Given the description of an element on the screen output the (x, y) to click on. 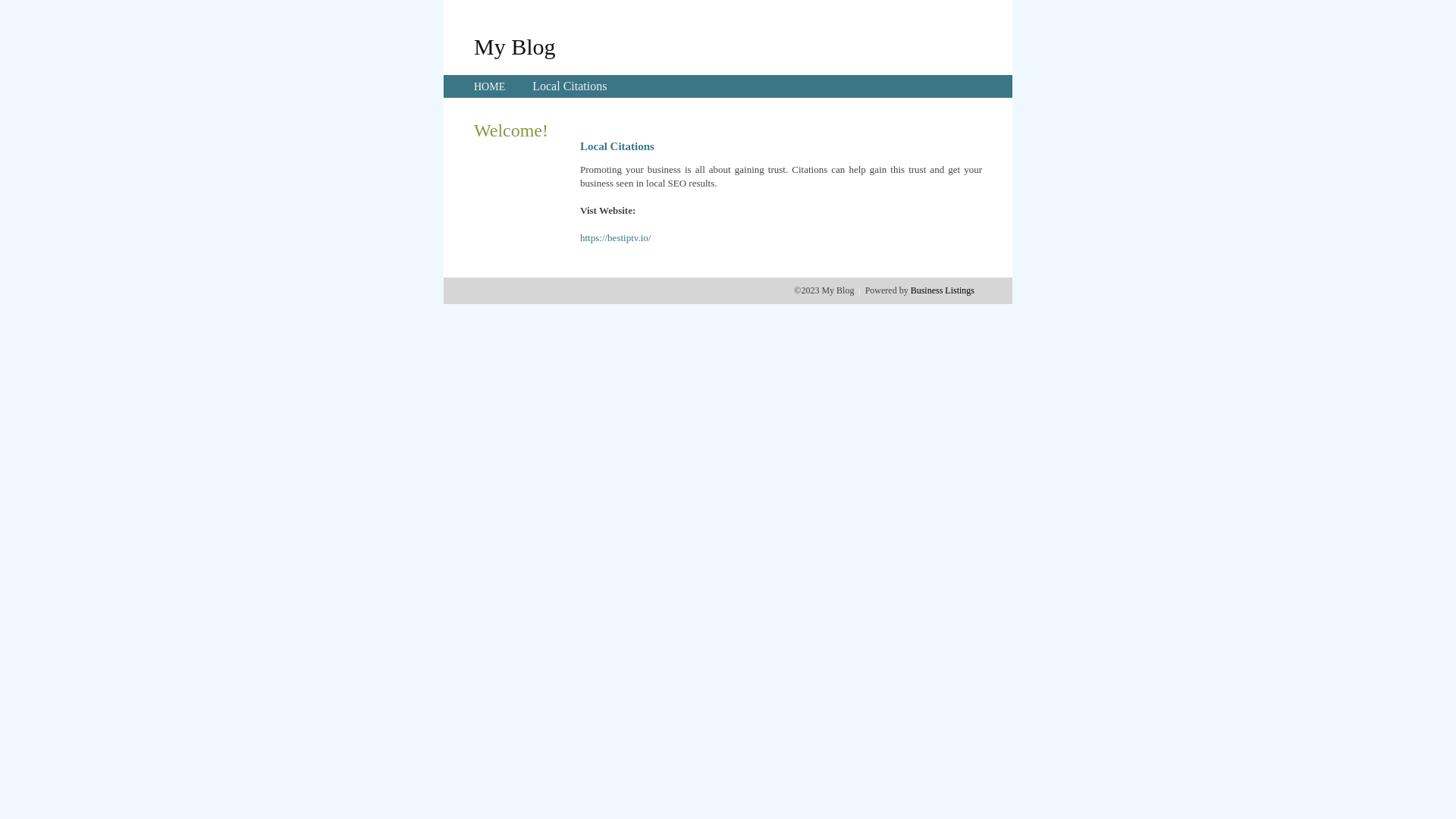
Local Citations Element type: text (569, 85)
My Blog Element type: text (514, 46)
Business Listings Element type: text (942, 290)
HOME Element type: text (489, 86)
https://bestiptv.io/ Element type: text (615, 237)
